Given the description of an element on the screen output the (x, y) to click on. 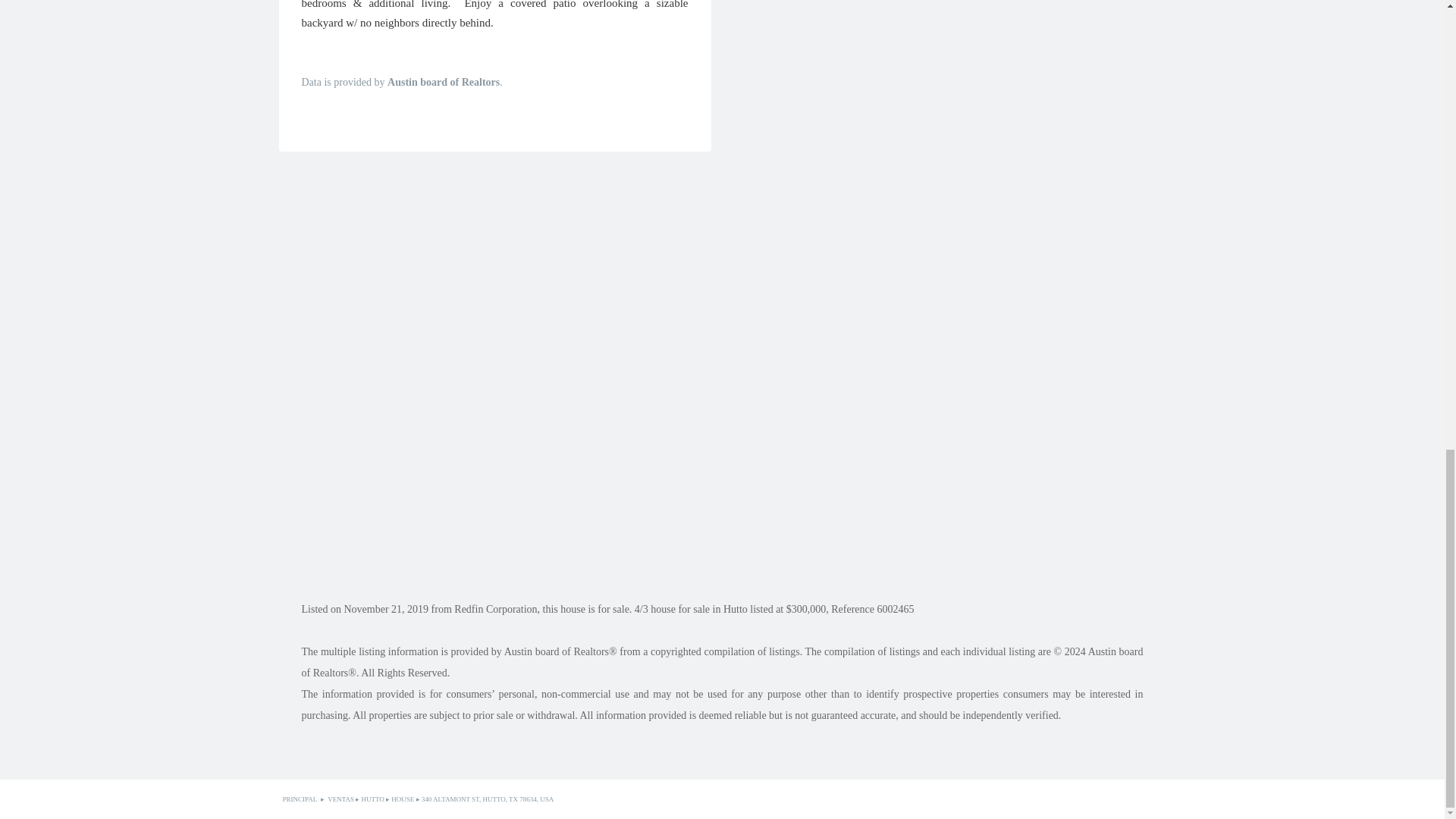
PRINCIPAL (299, 799)
